Given the description of an element on the screen output the (x, y) to click on. 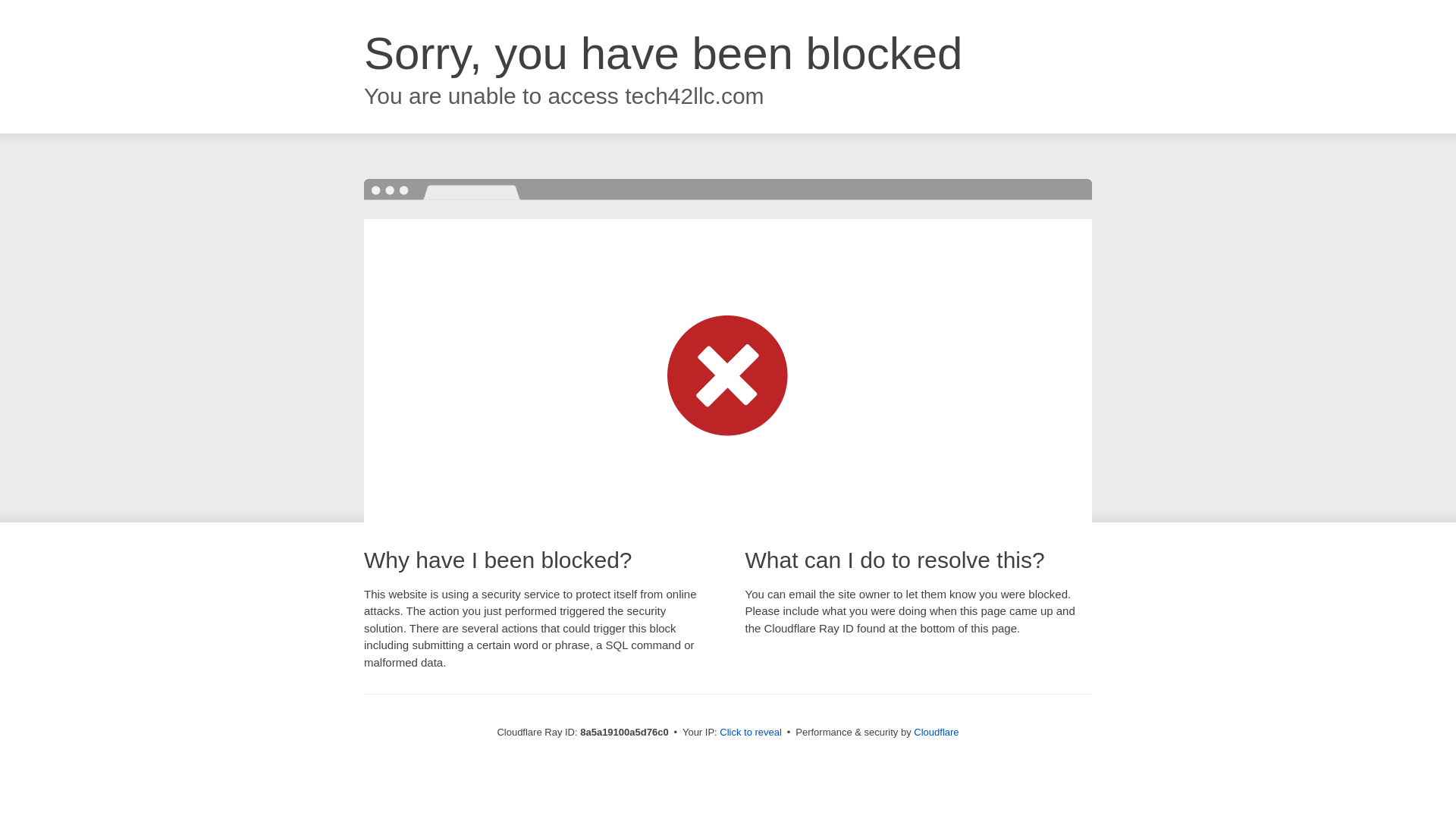
Click to reveal (750, 732)
Cloudflare (936, 731)
